Given the description of an element on the screen output the (x, y) to click on. 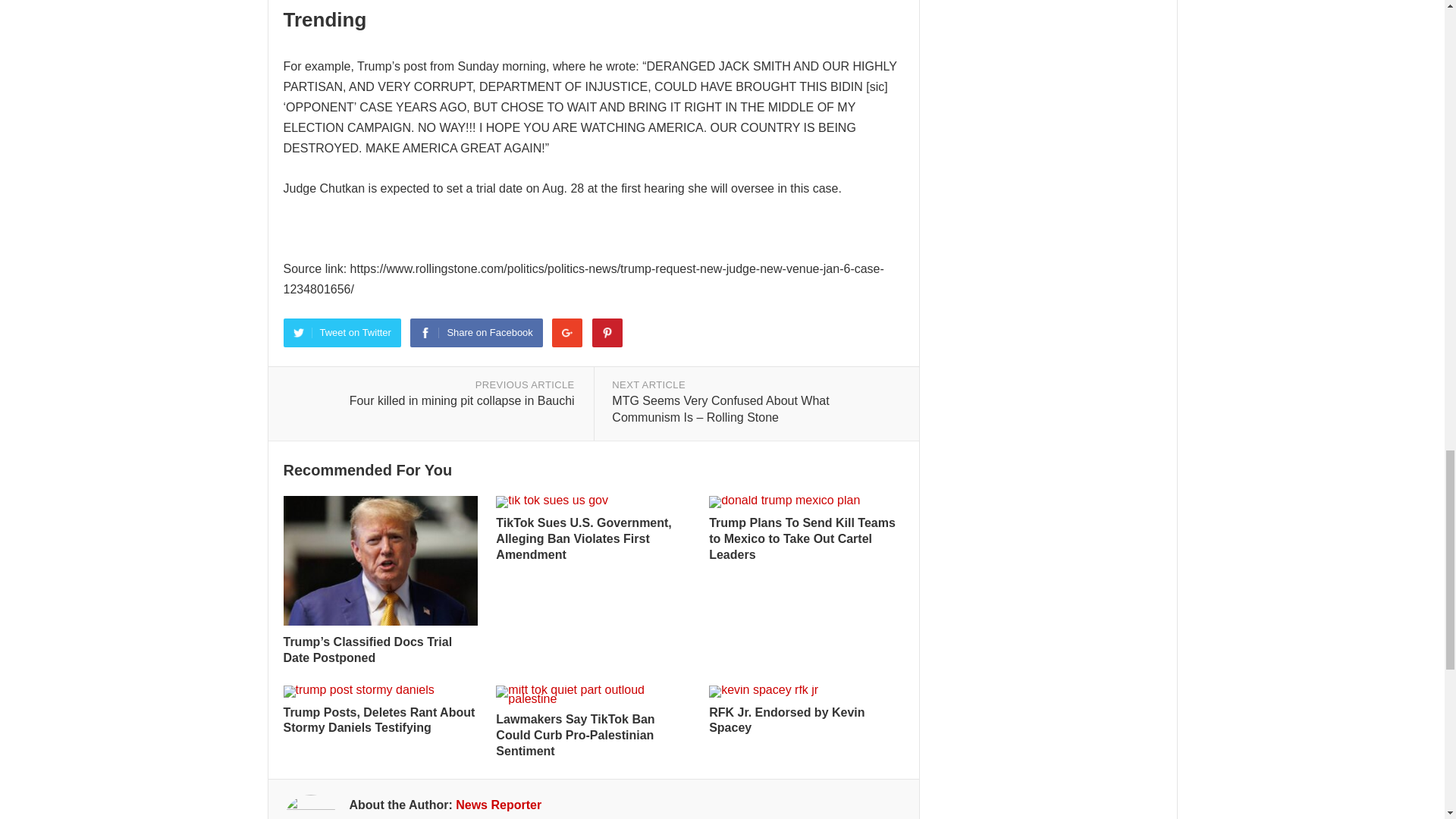
Four killed in mining pit collapse in Bauchi (462, 400)
Share on Facebook (475, 332)
Pinterest (607, 332)
Tweet on Twitter (342, 332)
